Given the description of an element on the screen output the (x, y) to click on. 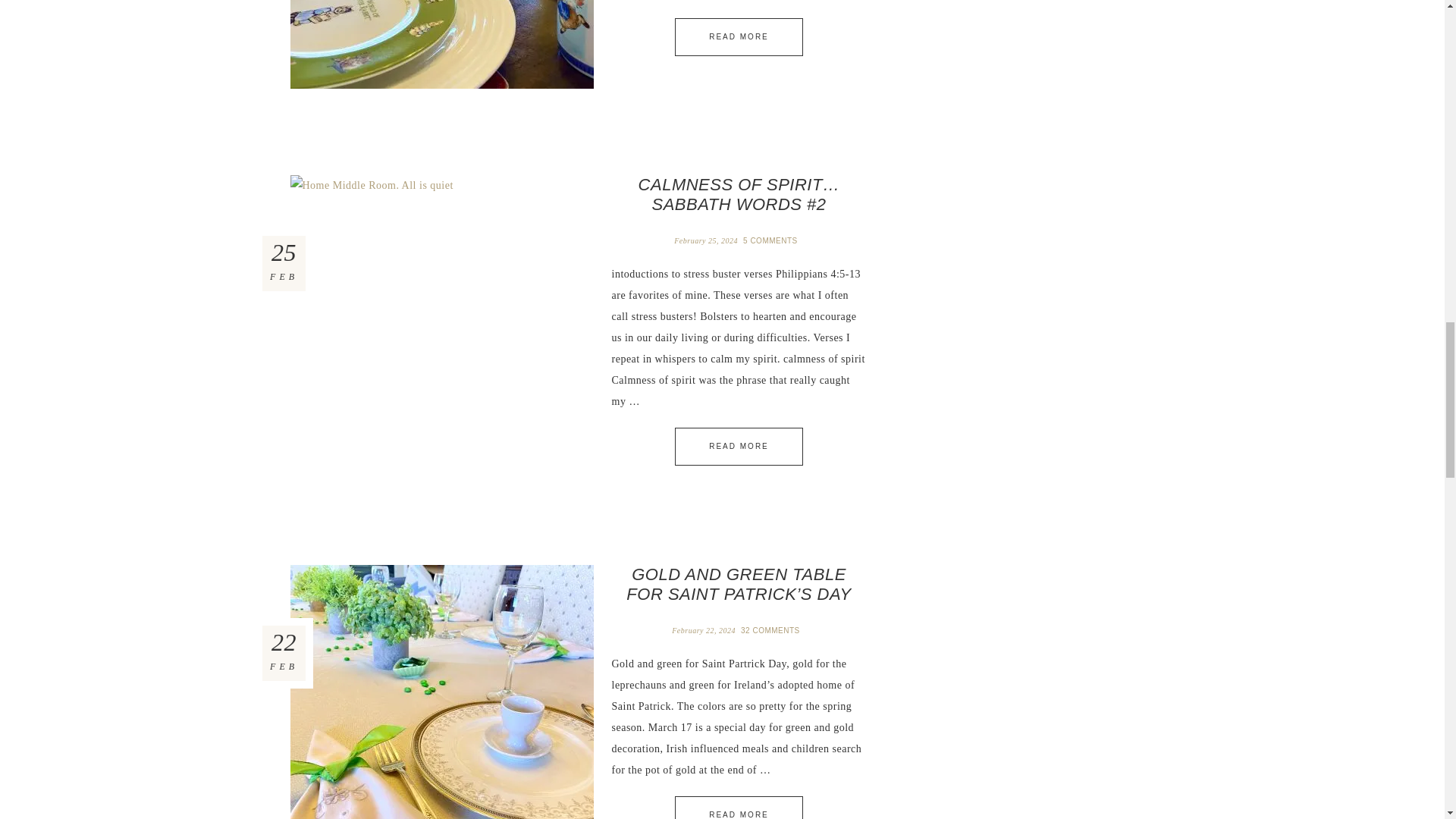
32 COMMENTS (772, 630)
5 COMMENTS (771, 240)
READ MORE (739, 37)
READ MORE (739, 446)
